Given the description of an element on the screen output the (x, y) to click on. 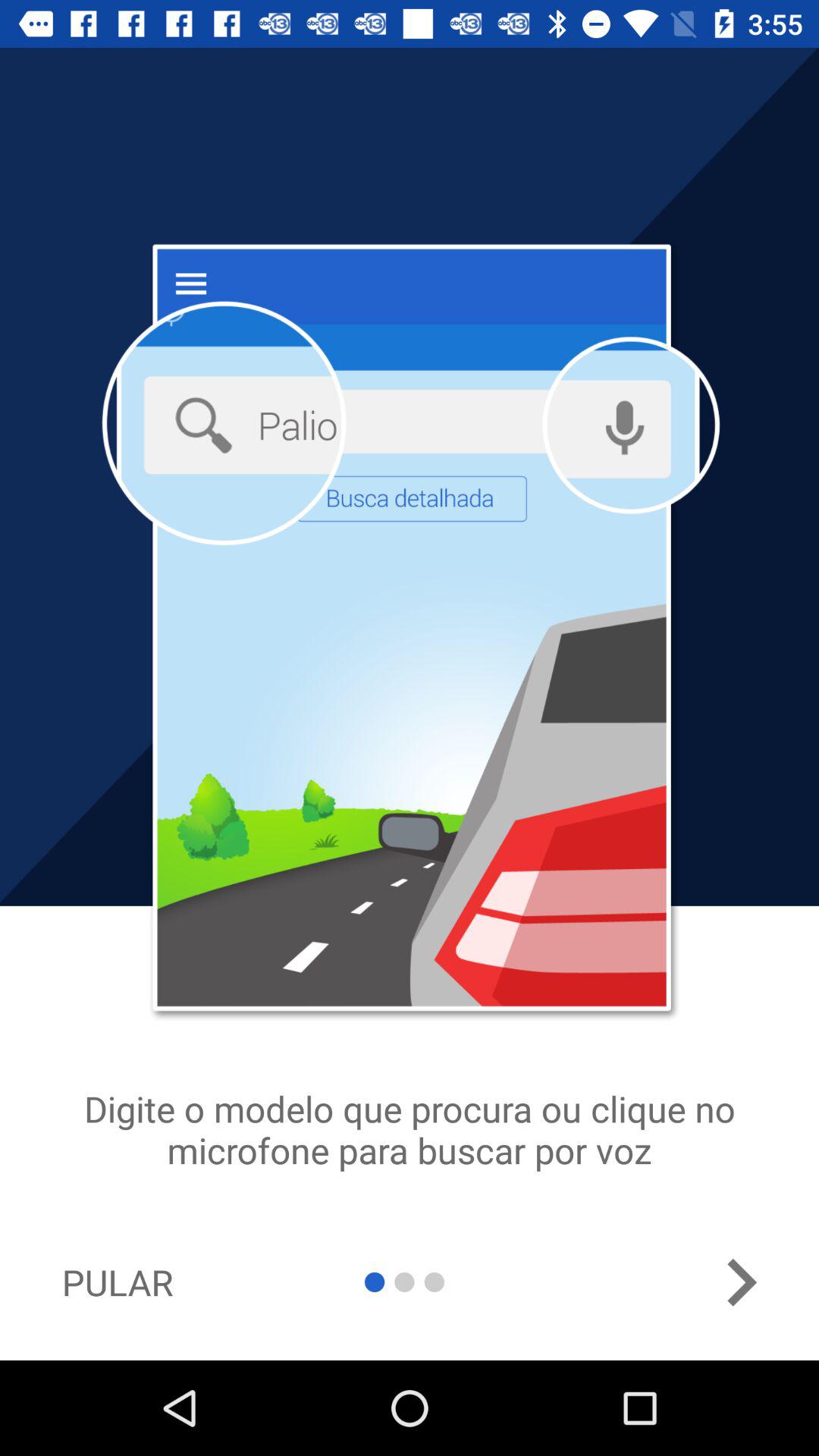
go to the next model option (740, 1282)
